Given the description of an element on the screen output the (x, y) to click on. 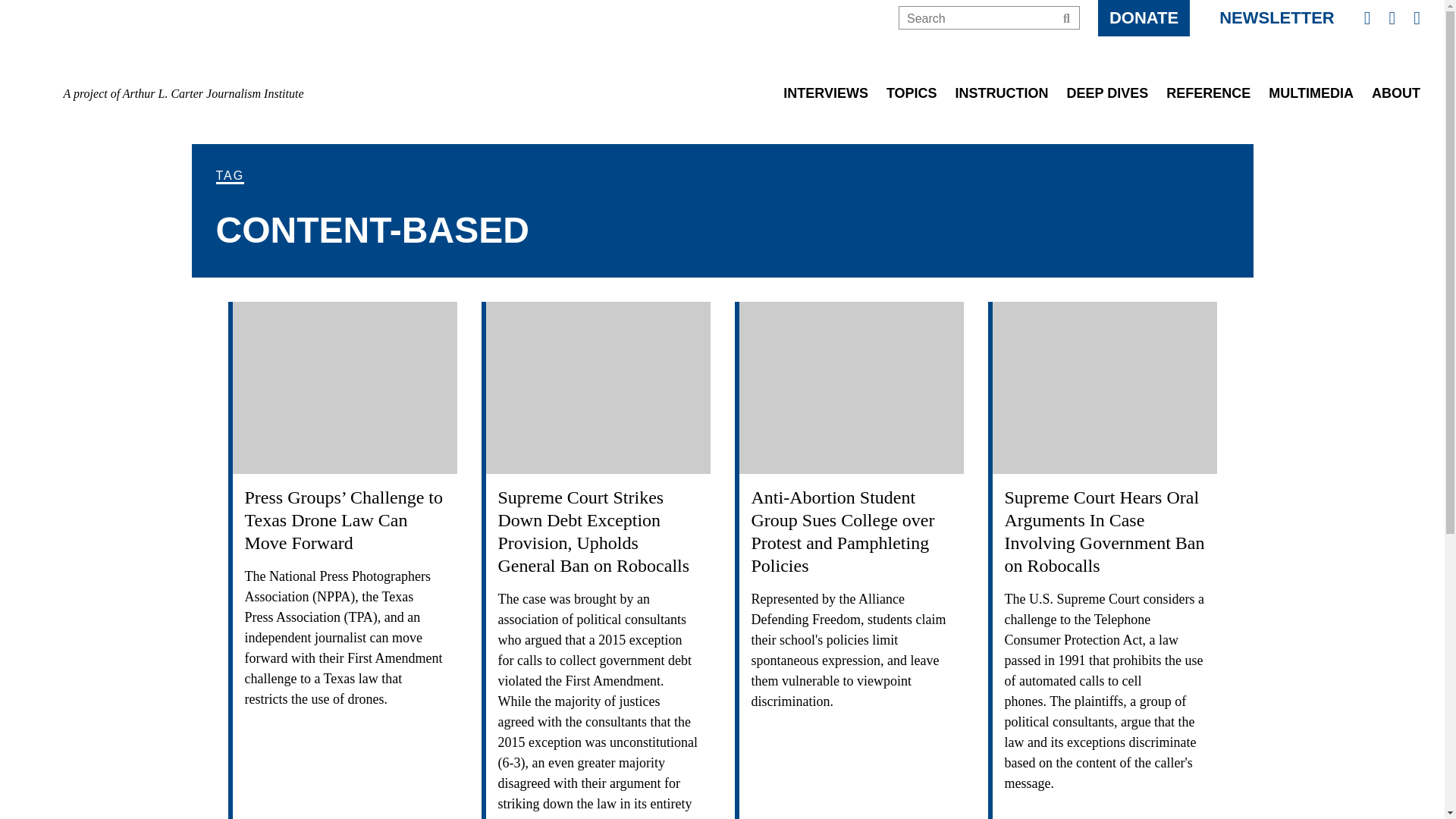
ABOUT (1396, 99)
INTERVIEWS (825, 99)
TOPICS (911, 99)
First Amendment Watch (183, 50)
NEWSLETTER (1276, 18)
REFERENCE (1208, 99)
INSTRUCTION (1001, 99)
DEEP DIVES (1107, 99)
Search (1066, 18)
